Given the description of an element on the screen output the (x, y) to click on. 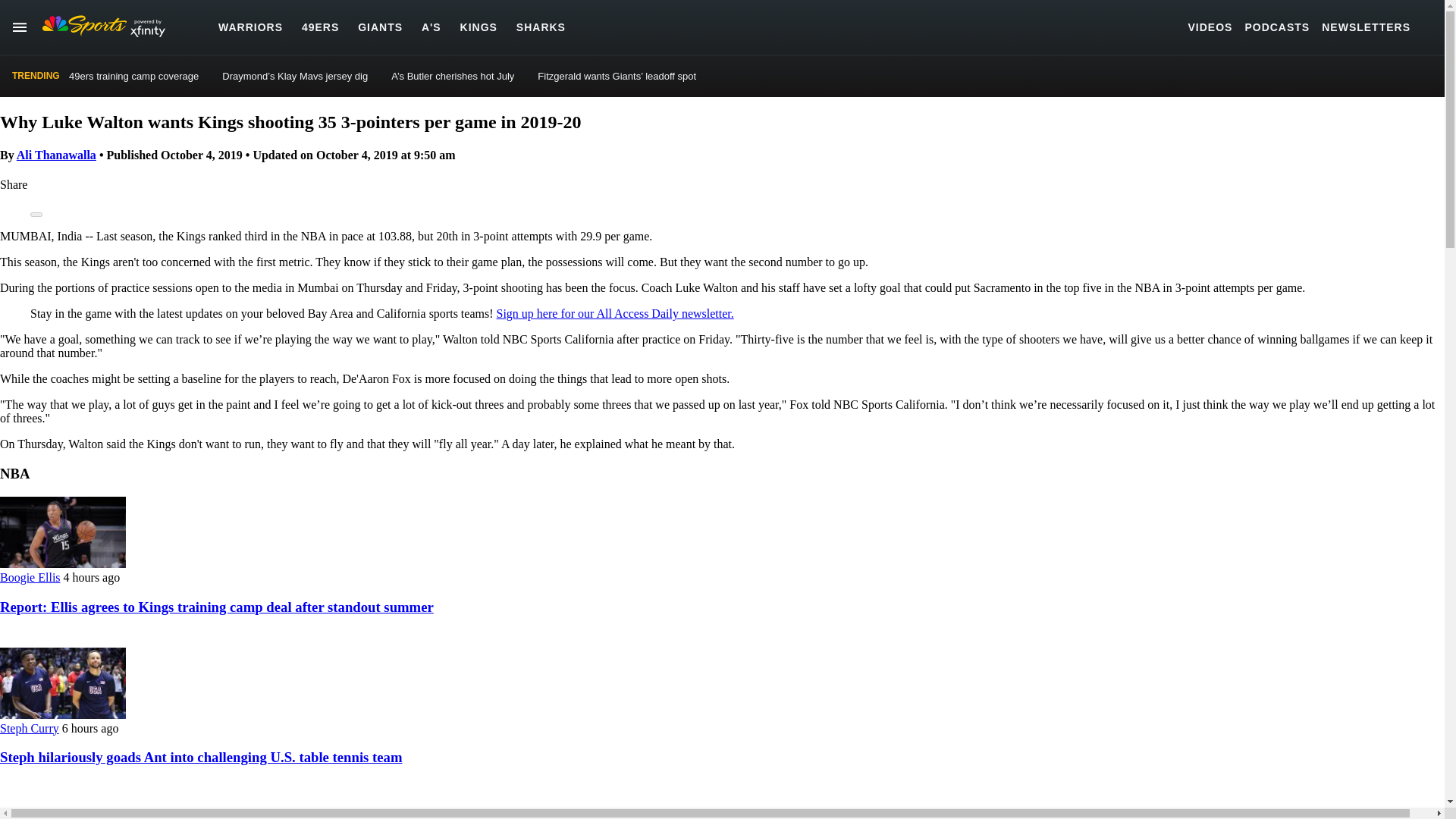
GIANTS (380, 27)
PODCASTS (1276, 27)
Boogie Ellis (30, 576)
Steph Curry (29, 727)
NEWSLETTERS (1366, 27)
SHARKS (541, 27)
WARRIORS (250, 27)
49ERS (320, 27)
Ali Thanawalla (56, 154)
KINGS (478, 27)
VIDEOS (1210, 27)
49ers training camp coverage (133, 75)
A'S (431, 27)
